Given the description of an element on the screen output the (x, y) to click on. 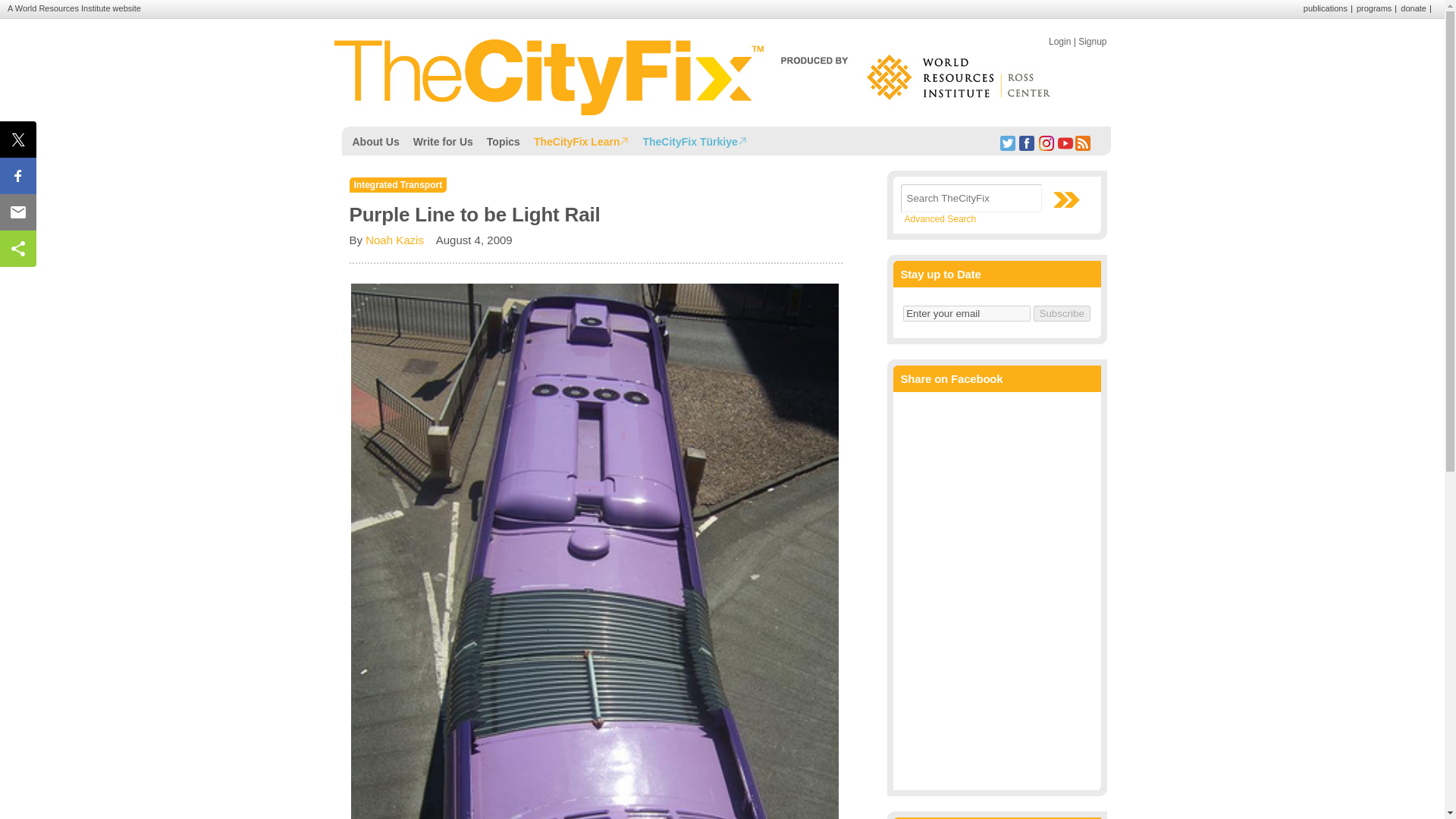
Advanced Search (939, 218)
programs (1373, 8)
TheCityFix Learn (581, 140)
Enter your email (966, 313)
publications (1325, 8)
donate (1413, 8)
World Resources Institute (62, 8)
Topics (503, 140)
Subscribe (1061, 313)
Signup (1092, 41)
Login (1059, 41)
Search TheCityFix (971, 198)
Posts by Noah Kazis (394, 239)
Write for Us (443, 140)
Subscribe (1061, 313)
